Given the description of an element on the screen output the (x, y) to click on. 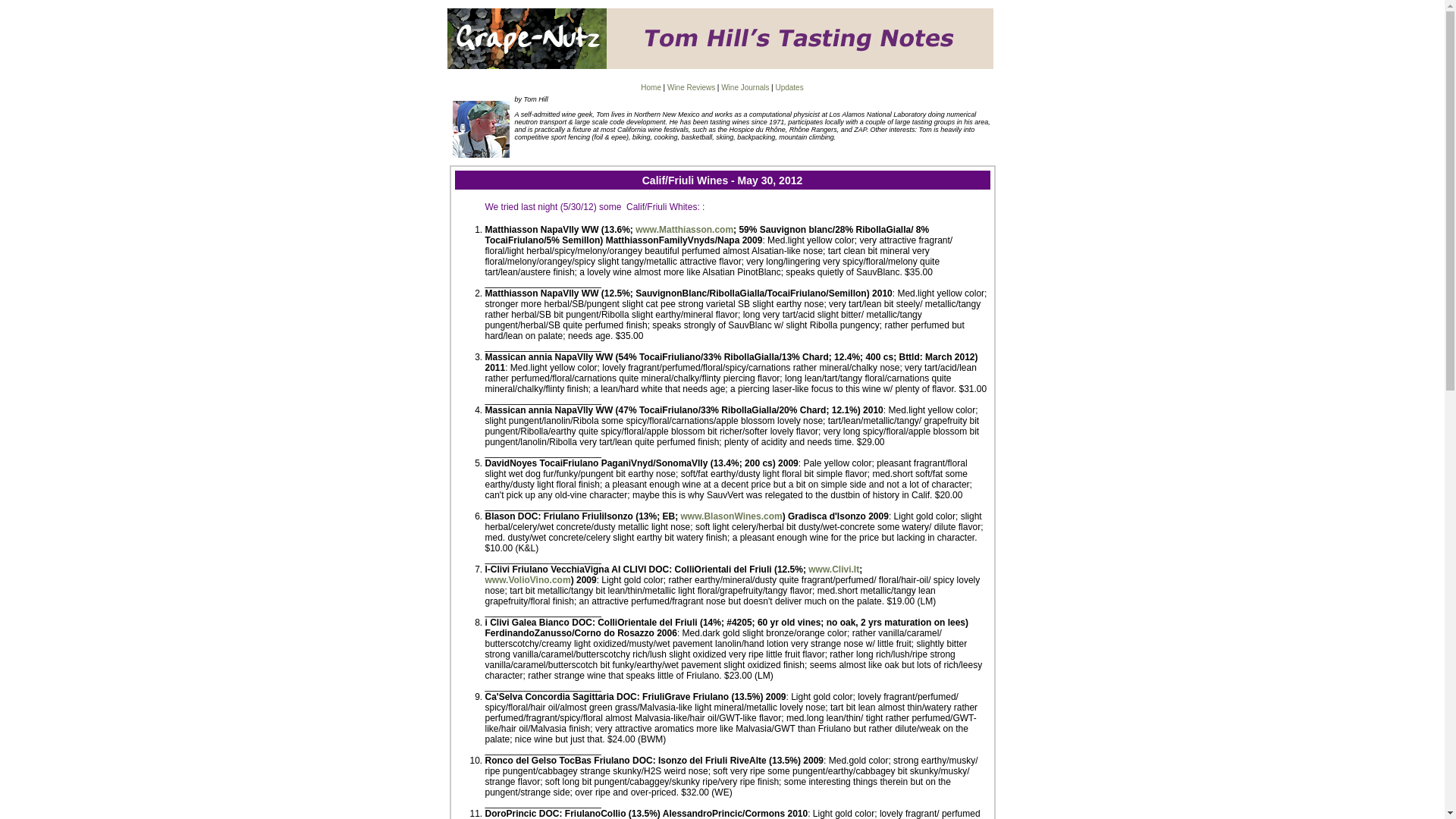
Home (650, 87)
www.VolioVino.com (527, 579)
Wine Reviews (690, 87)
Updates (788, 87)
www.Clivi.It (833, 569)
www.BlasonWines.com (732, 516)
www.Matthiasson.com (683, 229)
Wine Journals (744, 87)
